Given the description of an element on the screen output the (x, y) to click on. 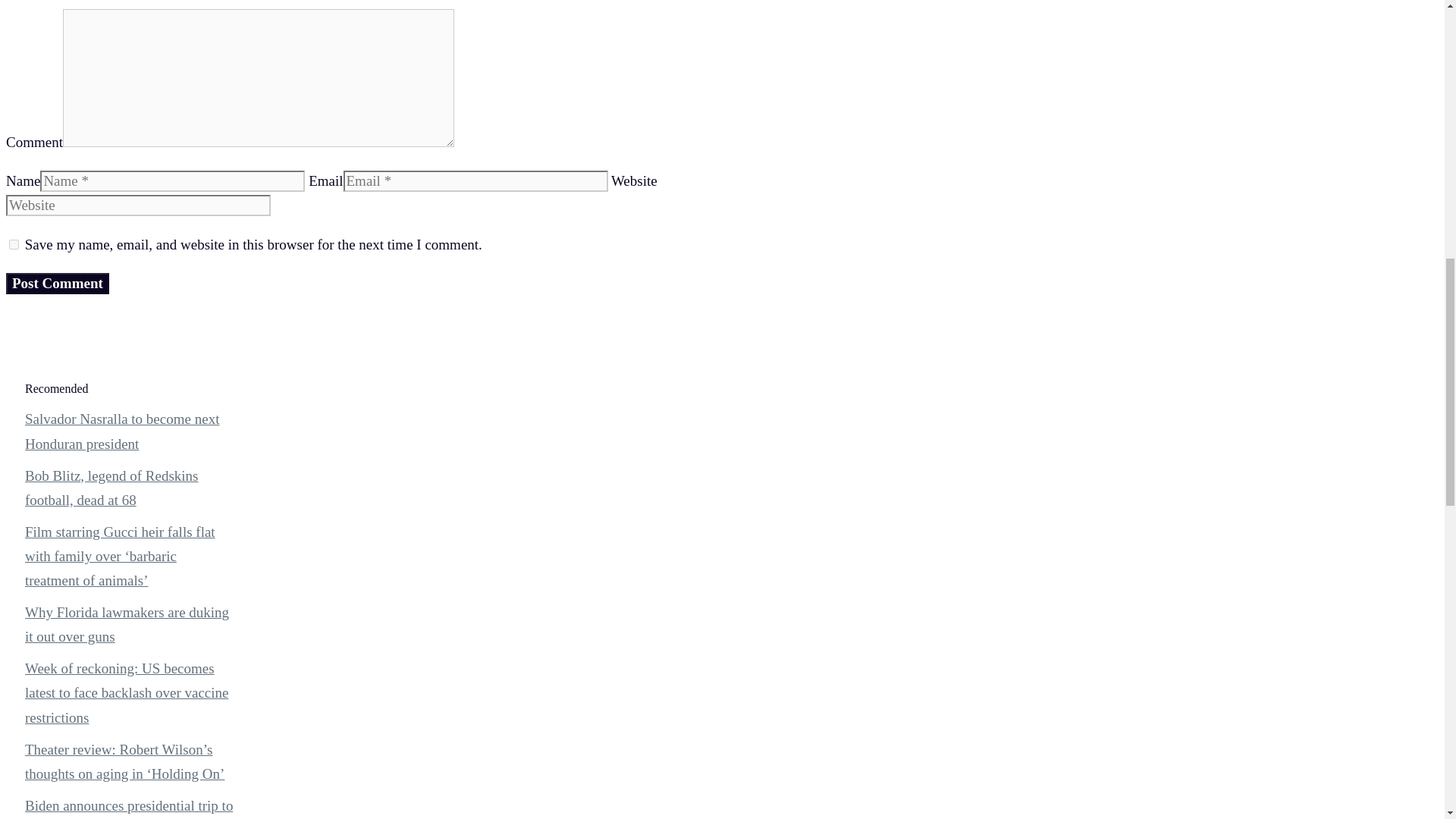
Post Comment (57, 283)
Post Comment (57, 283)
Salvador Nasralla to become next Honduran president (121, 431)
yes (13, 244)
Bob Blitz, legend of Redskins football, dead at 68 (111, 487)
Why Florida lawmakers are duking it out over guns (126, 624)
